Given the description of an element on the screen output the (x, y) to click on. 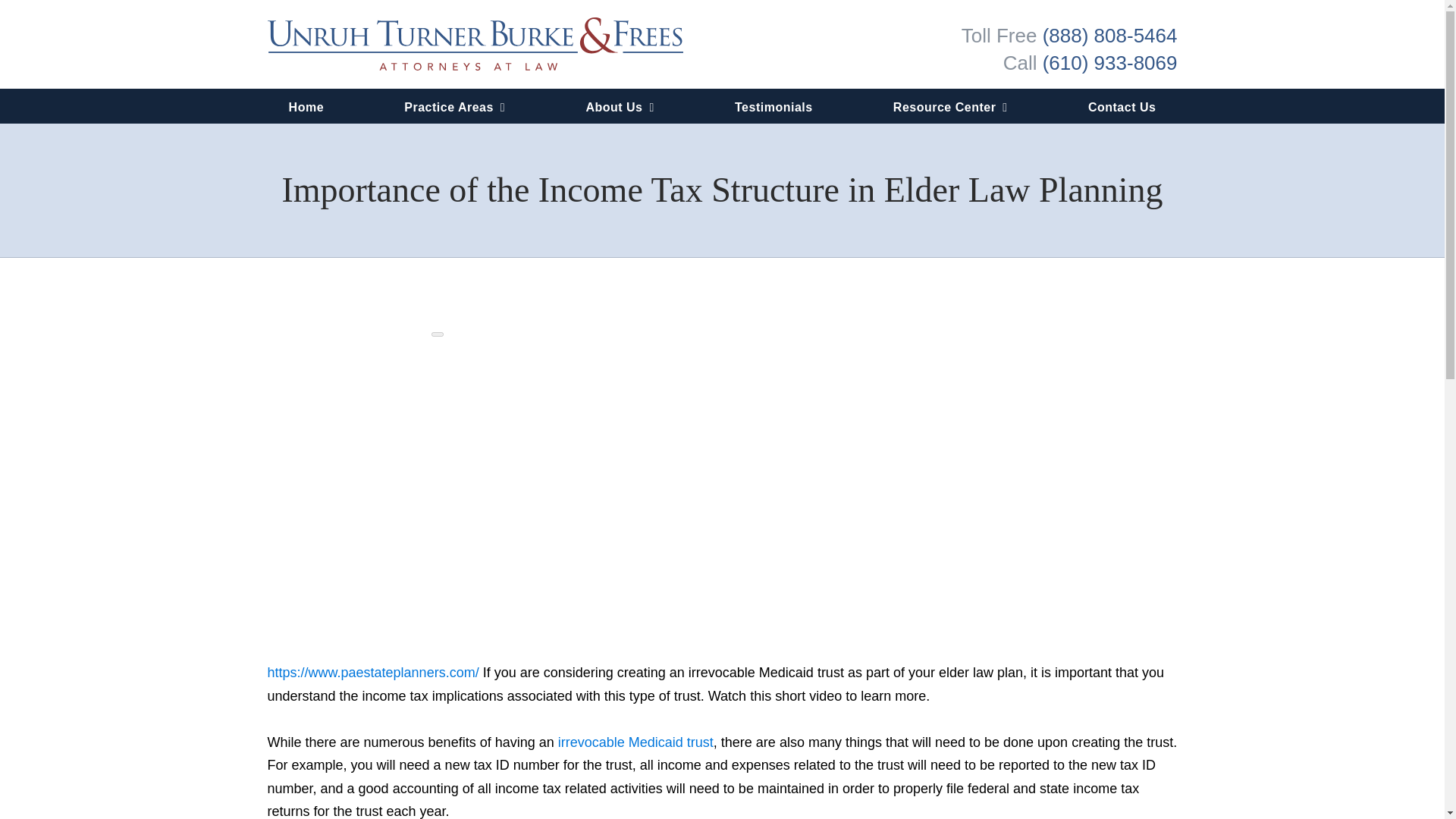
About Us (619, 105)
irrevocable Medicaid trust (635, 742)
Contact Us (1122, 105)
Resource Center (950, 105)
Practice Areas (454, 105)
Testimonials (773, 105)
Home (306, 105)
